Given the description of an element on the screen output the (x, y) to click on. 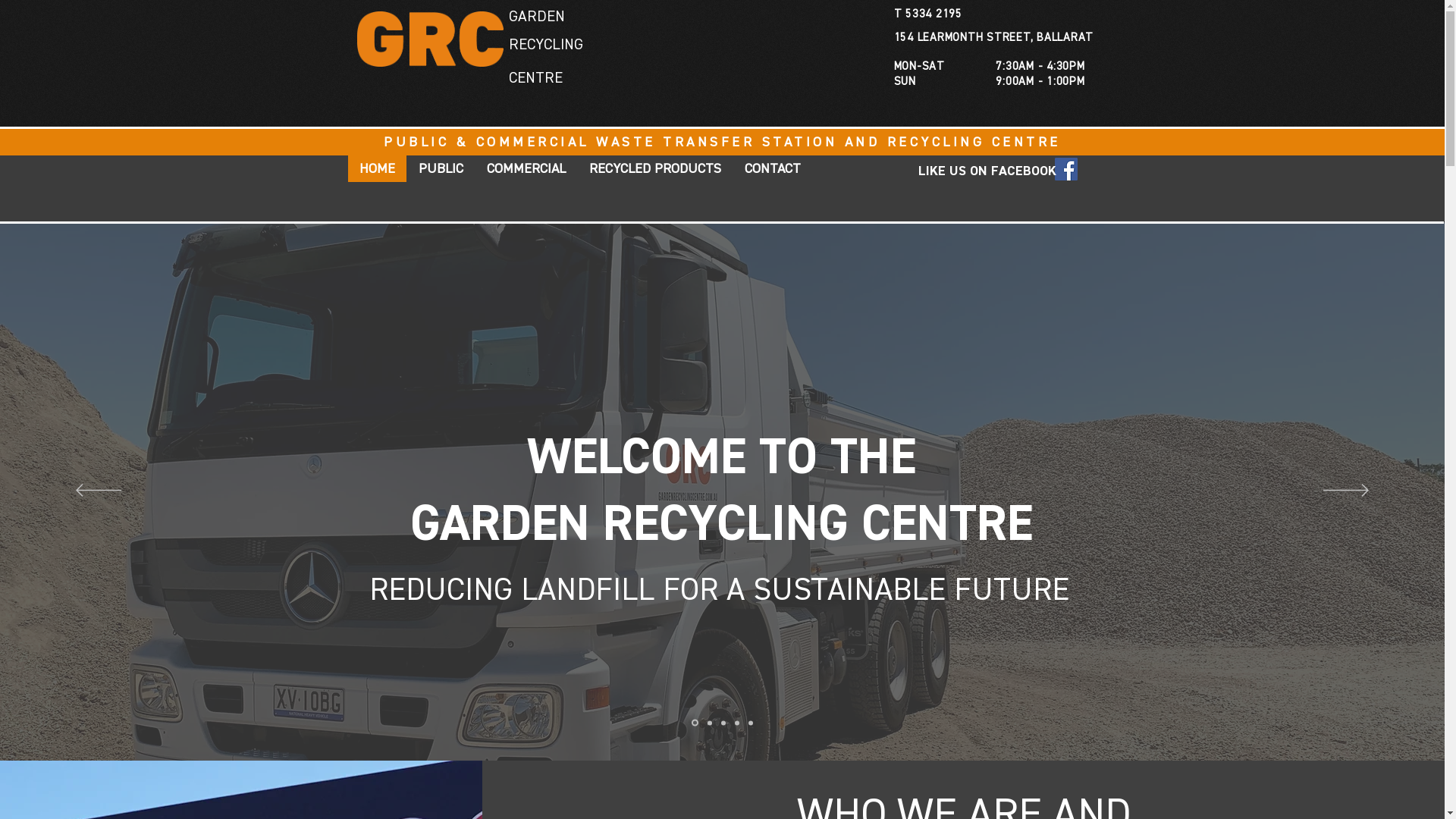
LIKE US ON FACEBOOK Element type: text (986, 169)
PUBLIC Element type: text (440, 168)
COMMERCIAL Element type: text (525, 168)
RECYCLED PRODUCTS Element type: text (653, 168)
CONTACT Element type: text (772, 168)
HOME Element type: text (376, 168)
